Given the description of an element on the screen output the (x, y) to click on. 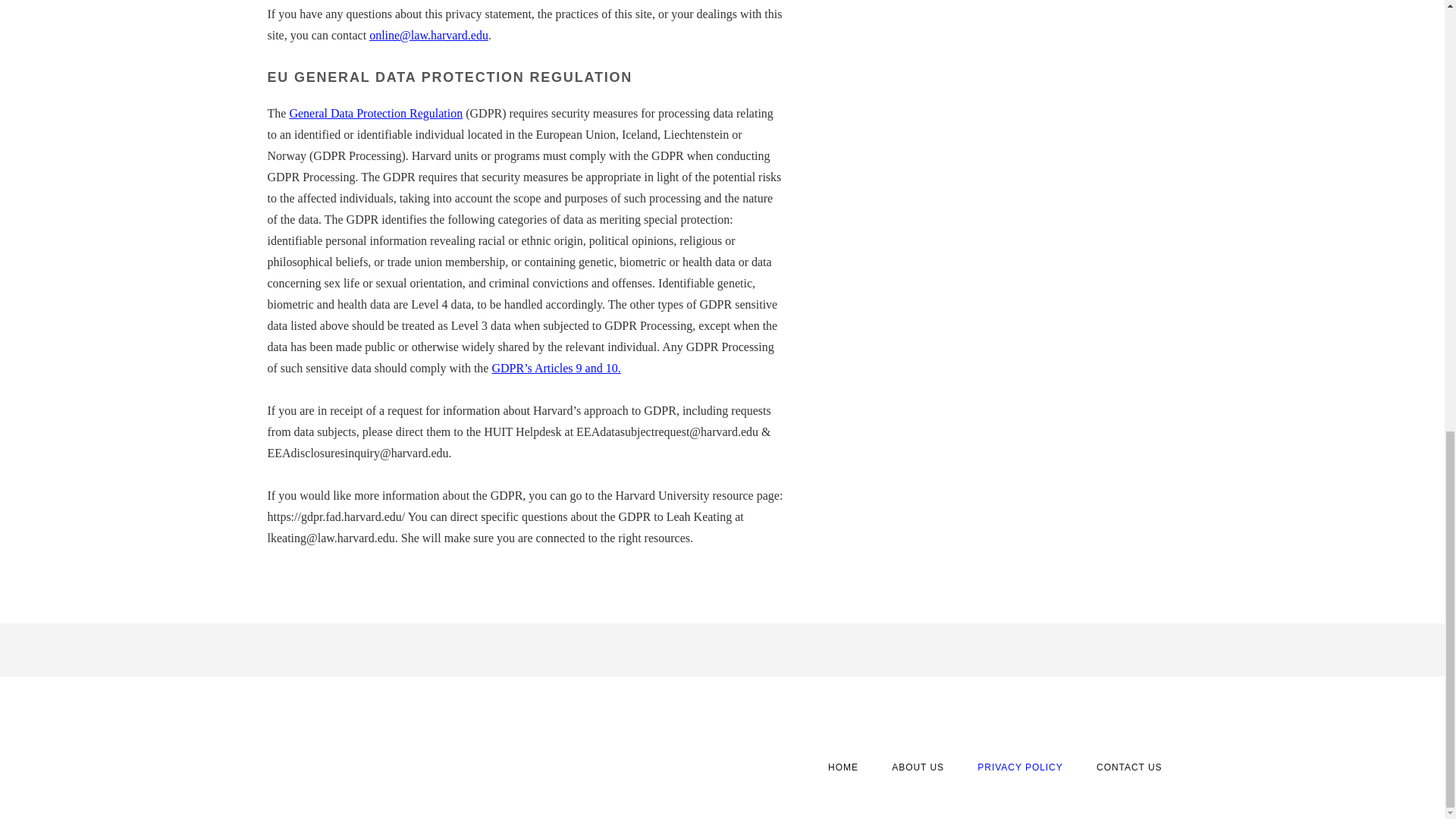
General Data Protection Regulation (375, 113)
